Given the description of an element on the screen output the (x, y) to click on. 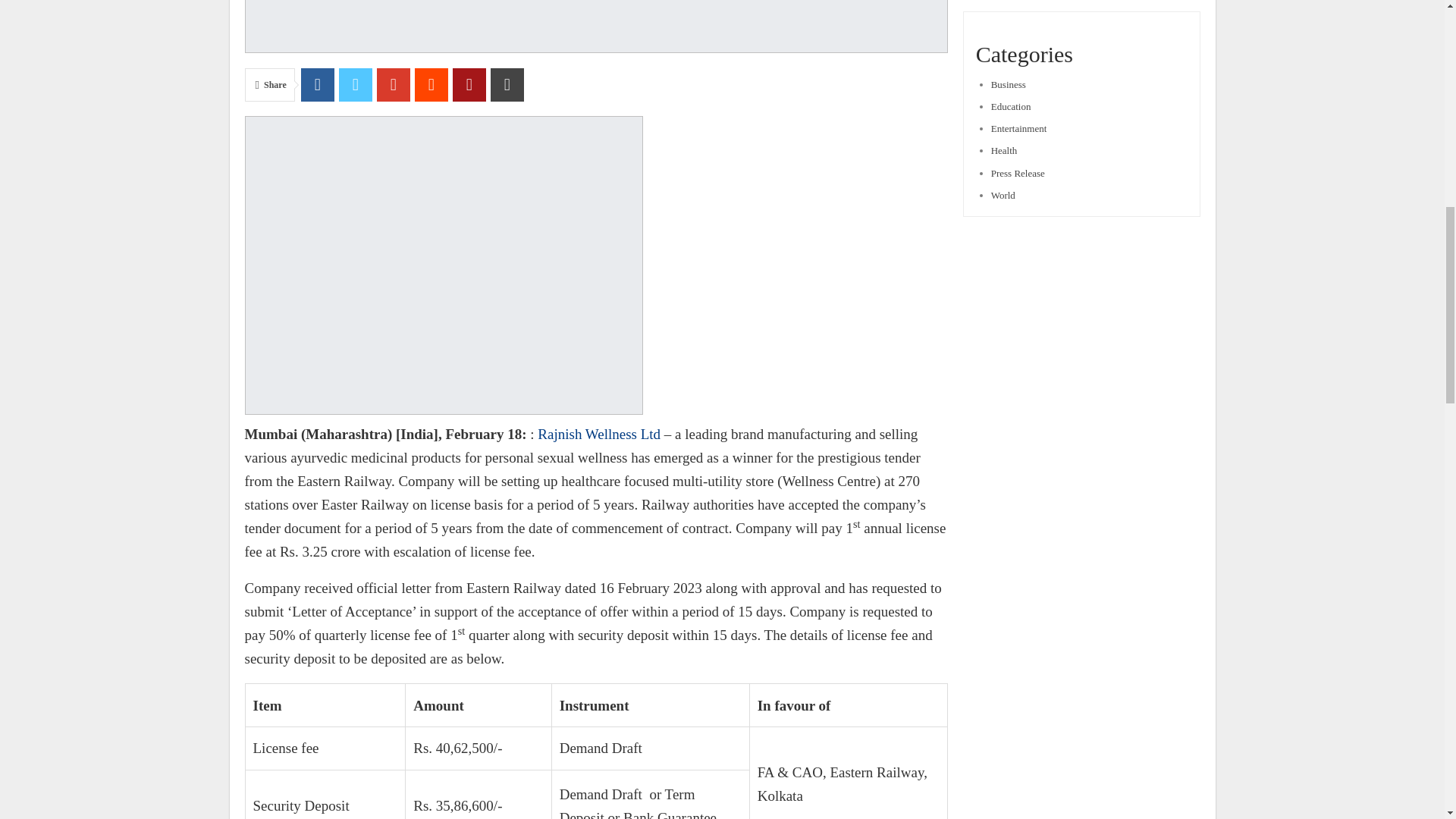
Rajnish Wellness Ltd (599, 433)
